Given the description of an element on the screen output the (x, y) to click on. 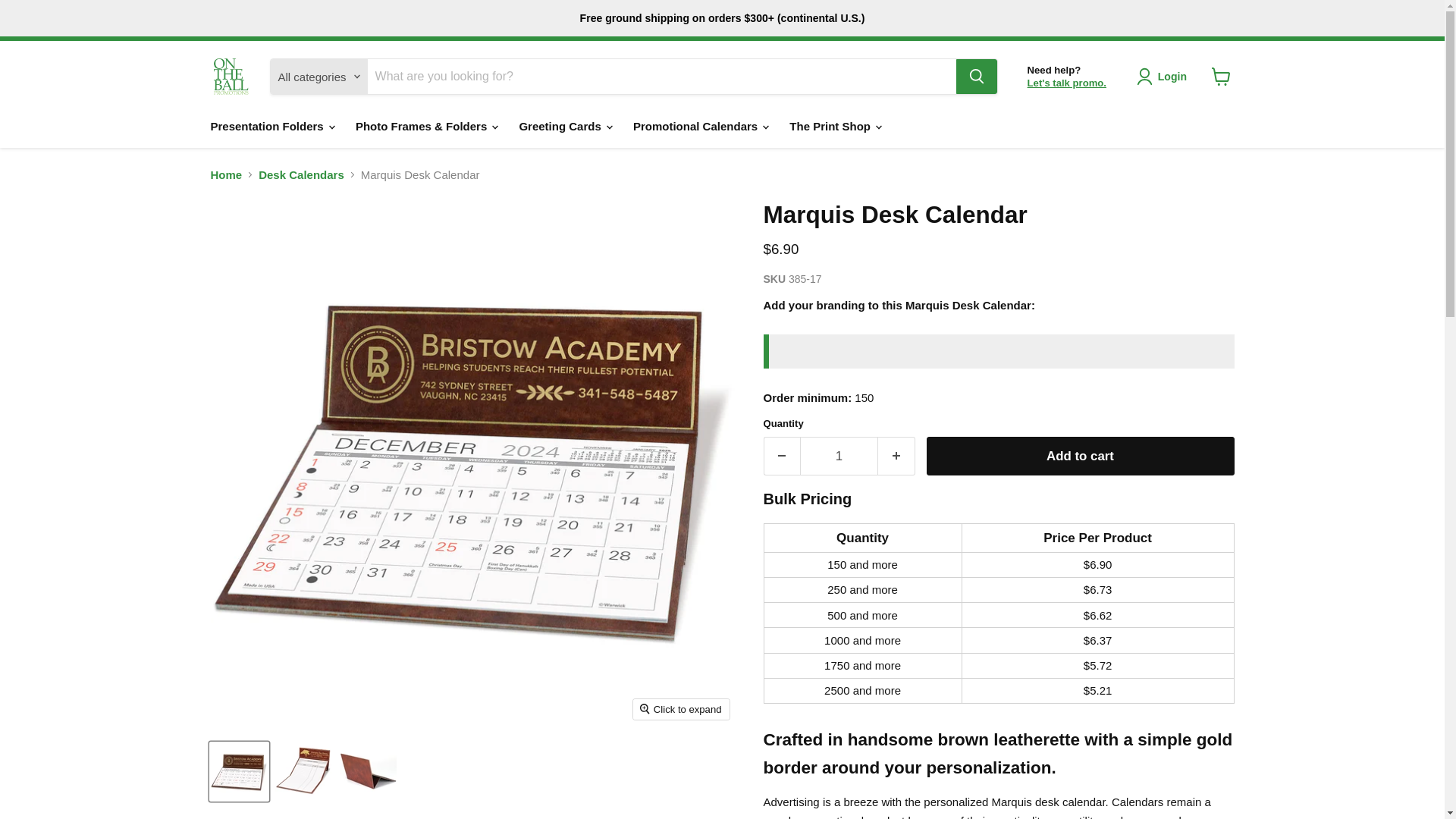
Login (1164, 76)
1 (838, 455)
View cart (1221, 76)
Let's talk promo. (1066, 82)
Have Questions For Us? Let's Talk Promo. (1066, 82)
